Given the description of an element on the screen output the (x, y) to click on. 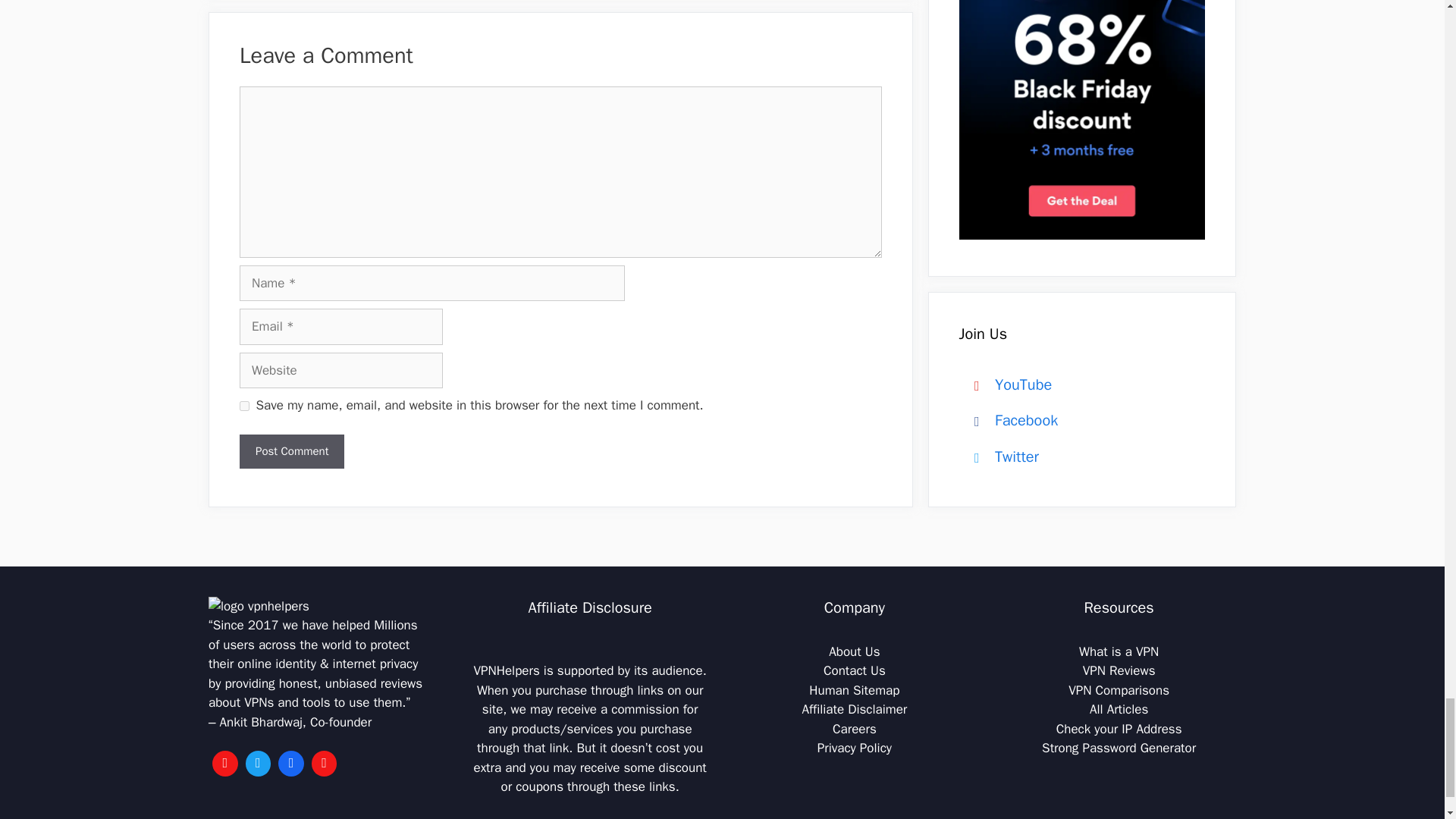
Post Comment (291, 451)
yes (244, 406)
